Given the description of an element on the screen output the (x, y) to click on. 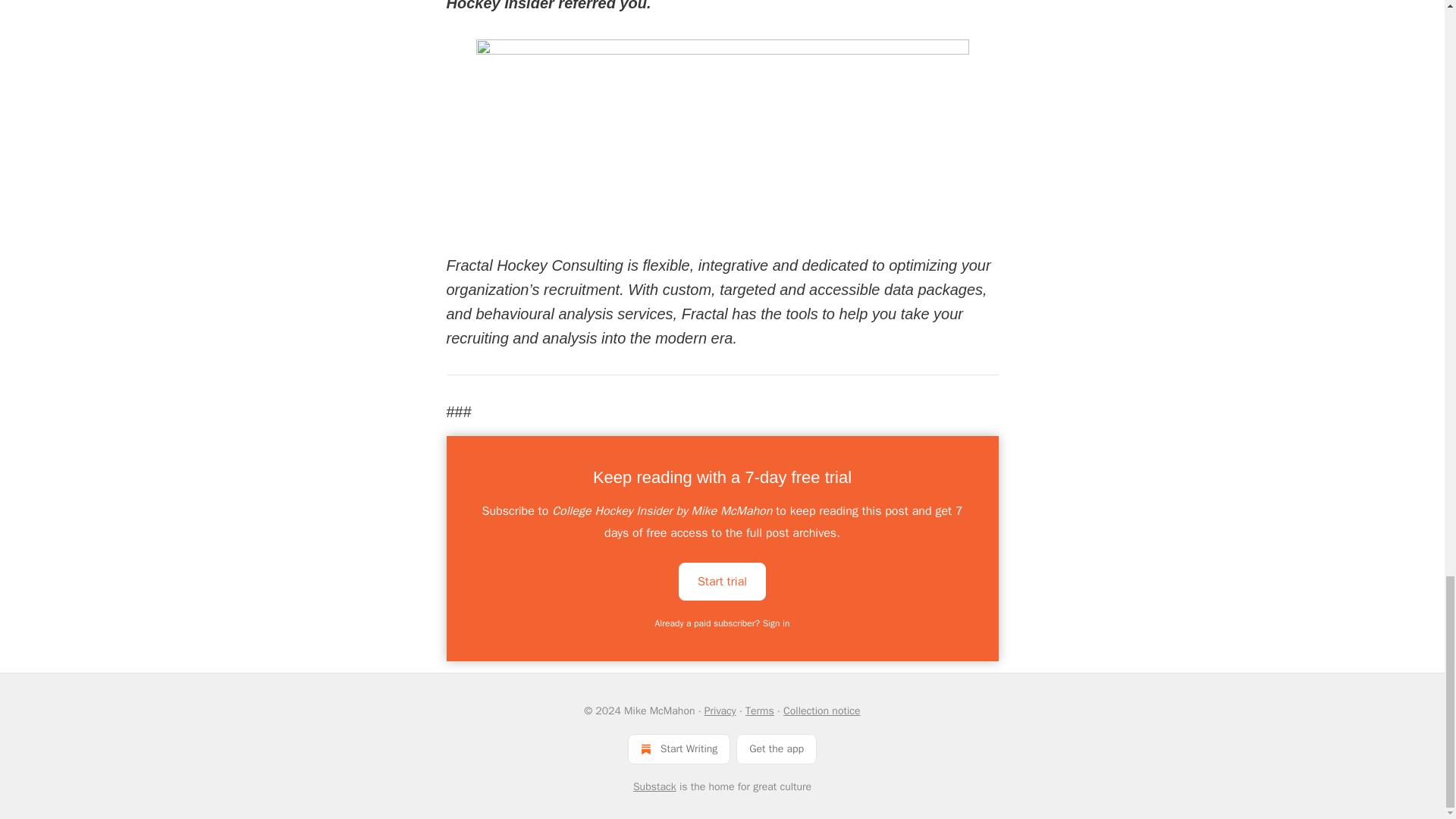
Already a paid subscriber? Sign in (722, 623)
Get the app (776, 748)
Start trial (721, 581)
Terms (759, 710)
Start trial (721, 579)
Privacy (720, 710)
Substack (655, 786)
Collection notice (821, 710)
Start Writing (678, 748)
